Given the description of an element on the screen output the (x, y) to click on. 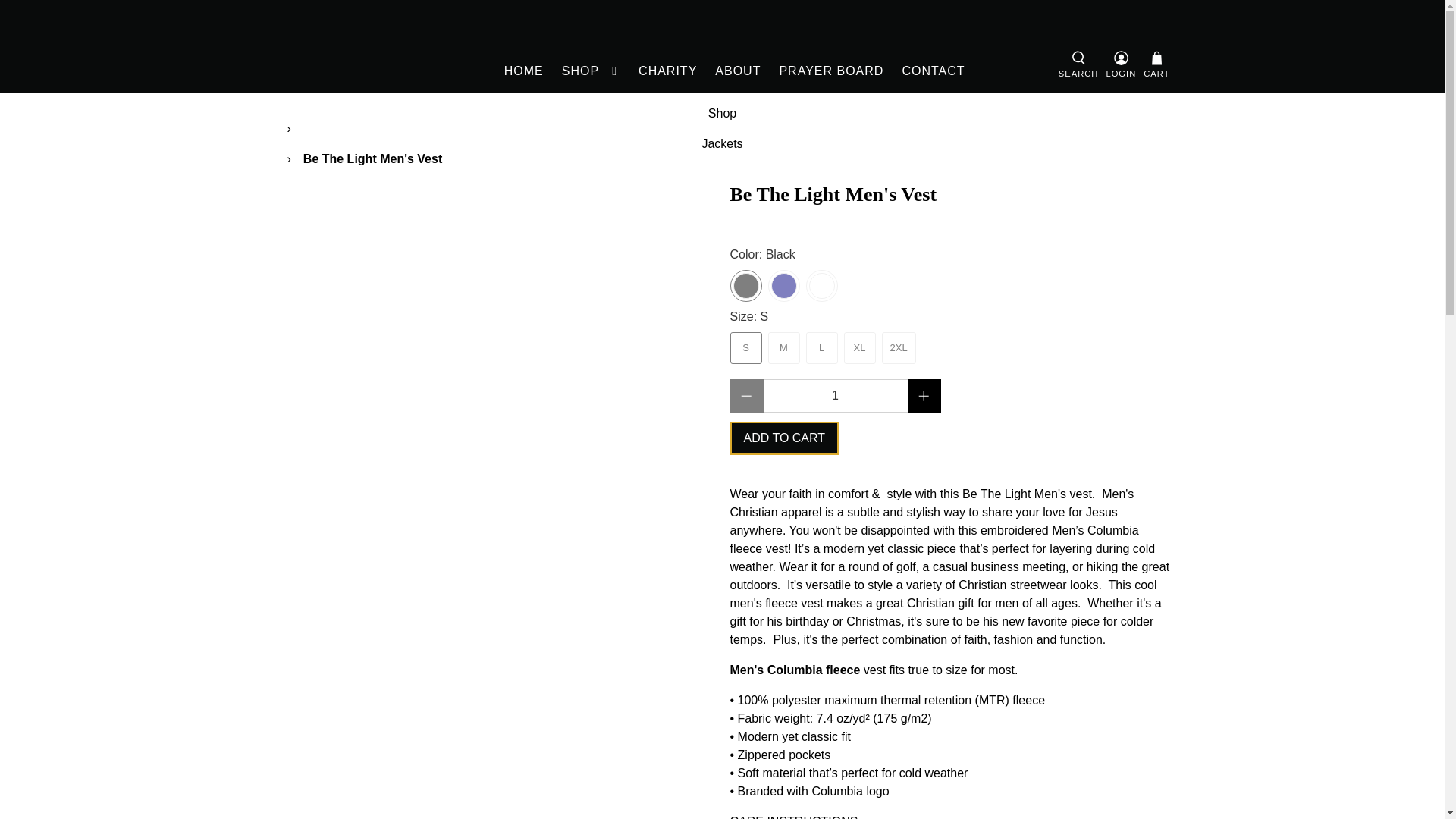
B The Light Boutique (343, 46)
SHOP (590, 70)
HOME (524, 70)
1 (834, 395)
Shop (722, 113)
Jackets (722, 143)
